Given the description of an element on the screen output the (x, y) to click on. 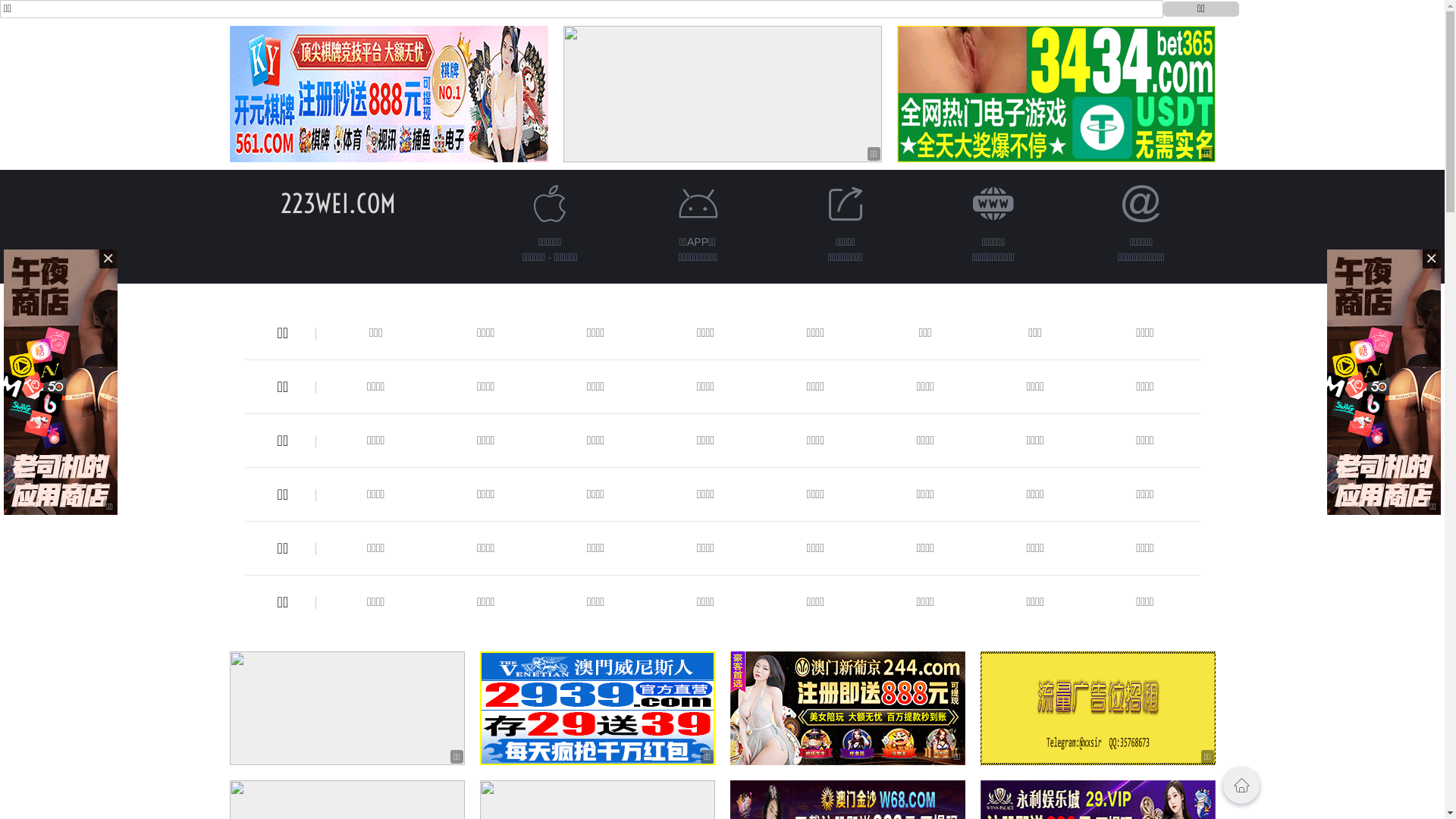
223WEI.COM Element type: text (337, 203)
